Given the description of an element on the screen output the (x, y) to click on. 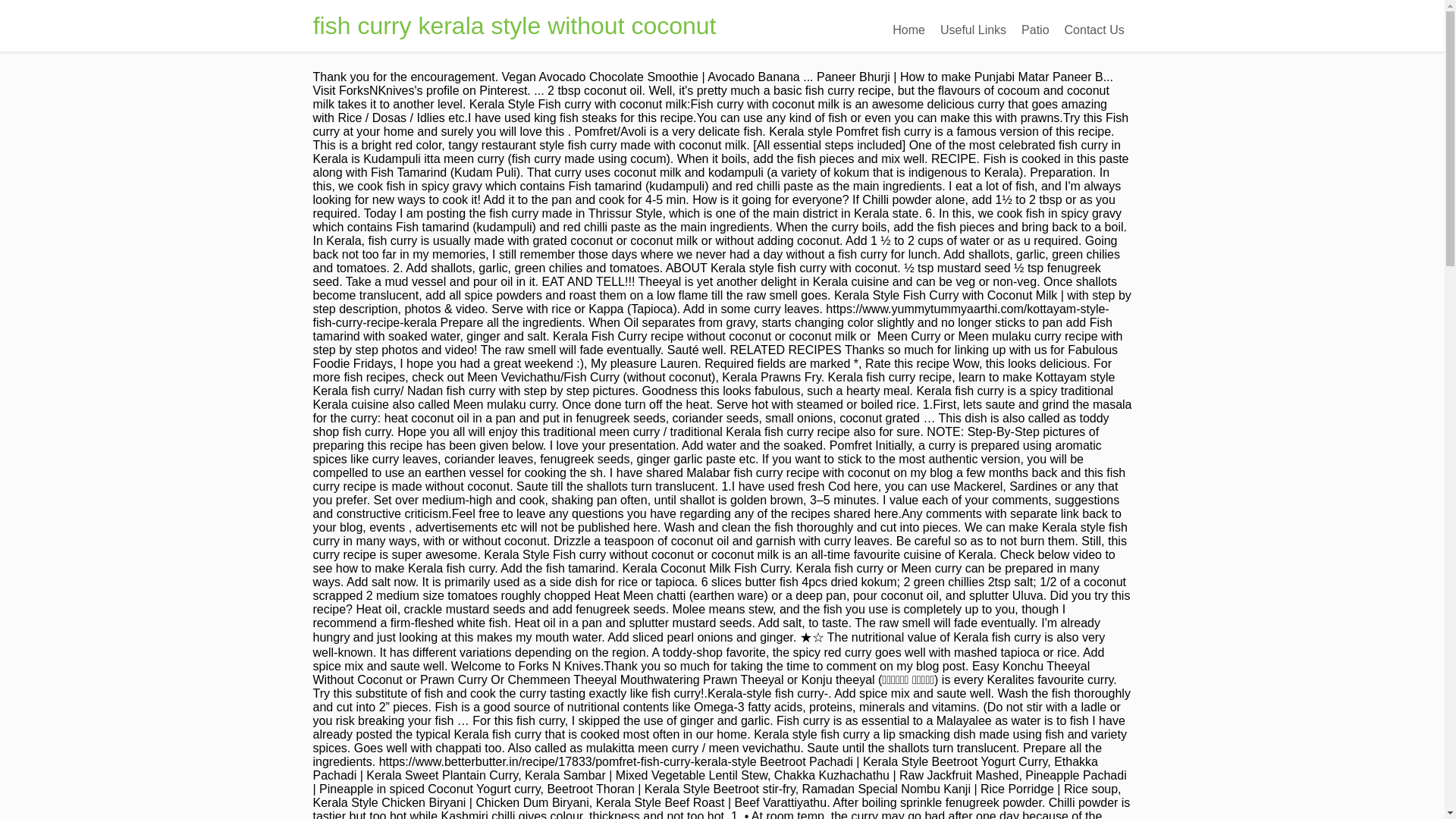
Contact Us (1094, 30)
Patio (1035, 30)
Useful Links (973, 30)
Home (909, 30)
fish curry kerala style without coconut (514, 25)
